Given the description of an element on the screen output the (x, y) to click on. 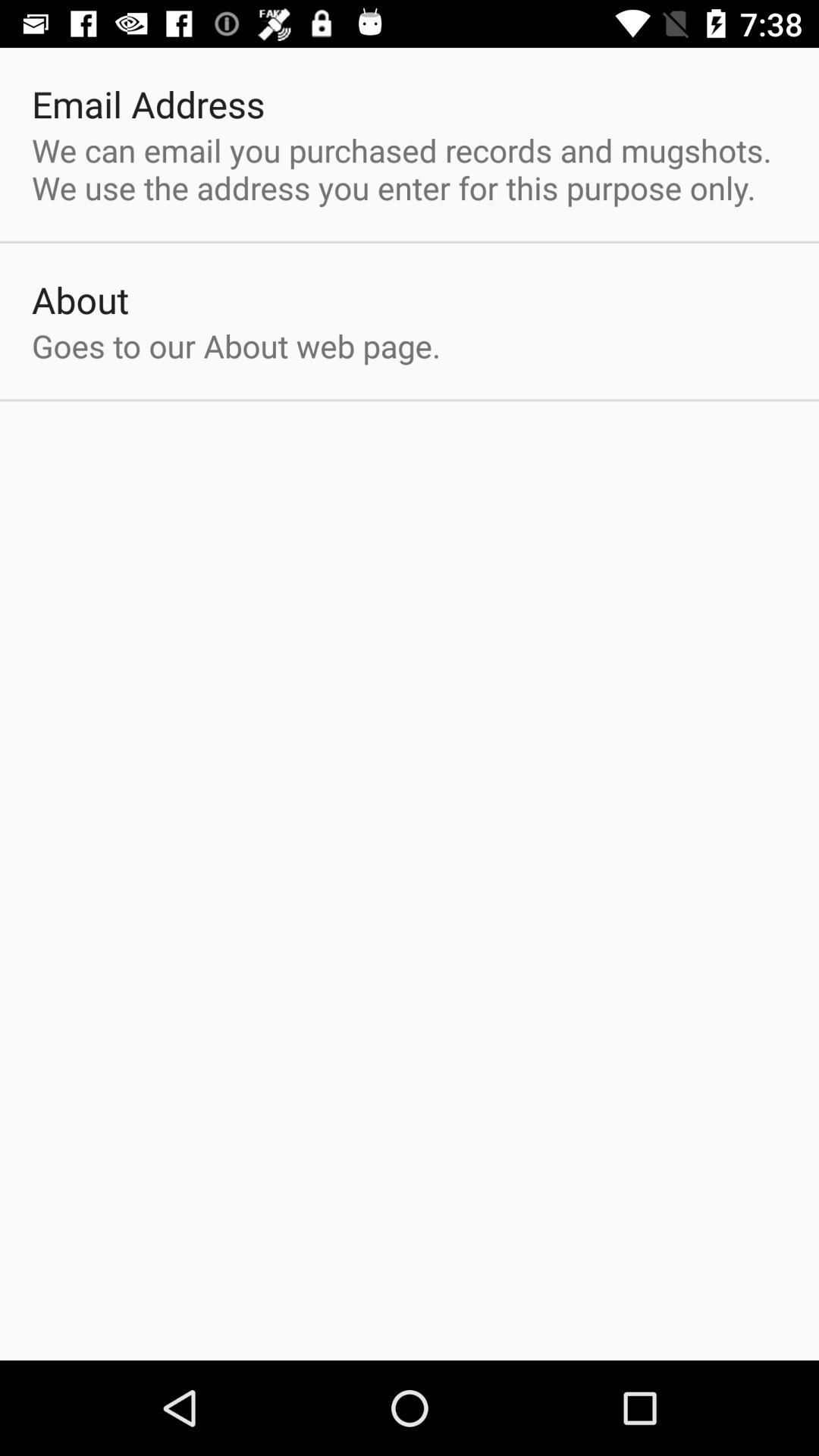
scroll until goes to our item (235, 345)
